Given the description of an element on the screen output the (x, y) to click on. 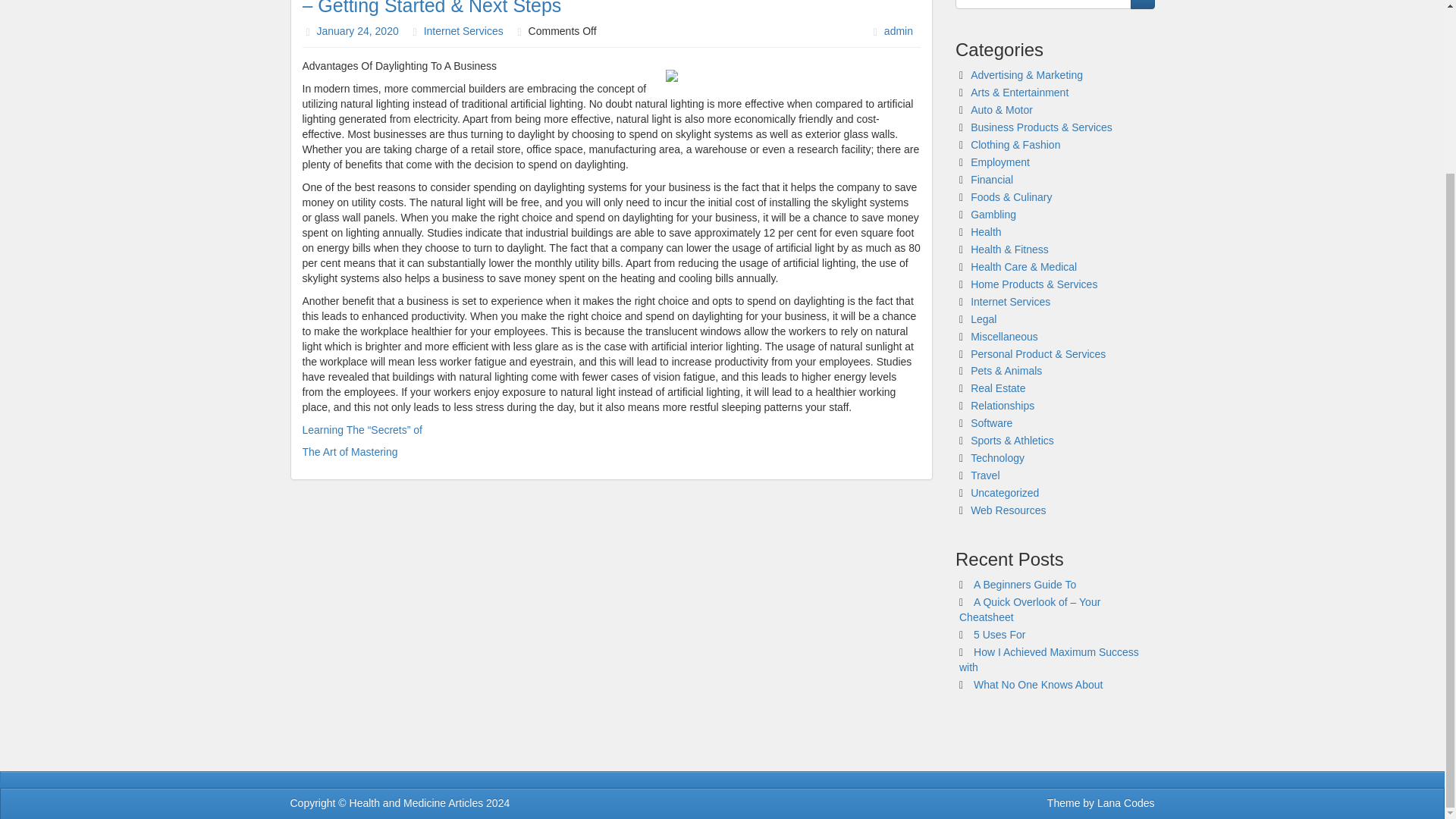
Miscellaneous (1004, 336)
How I Achieved Maximum Success with (1048, 659)
Health (986, 232)
Financial (992, 179)
Travel (984, 475)
Uncategorized (1005, 492)
Software (991, 422)
Internet Services (1010, 301)
Internet Services (463, 30)
Legal (983, 318)
Web Resources (1008, 510)
Gambling (993, 214)
Technology (998, 458)
Relationships (1002, 405)
Employment (1000, 162)
